Given the description of an element on the screen output the (x, y) to click on. 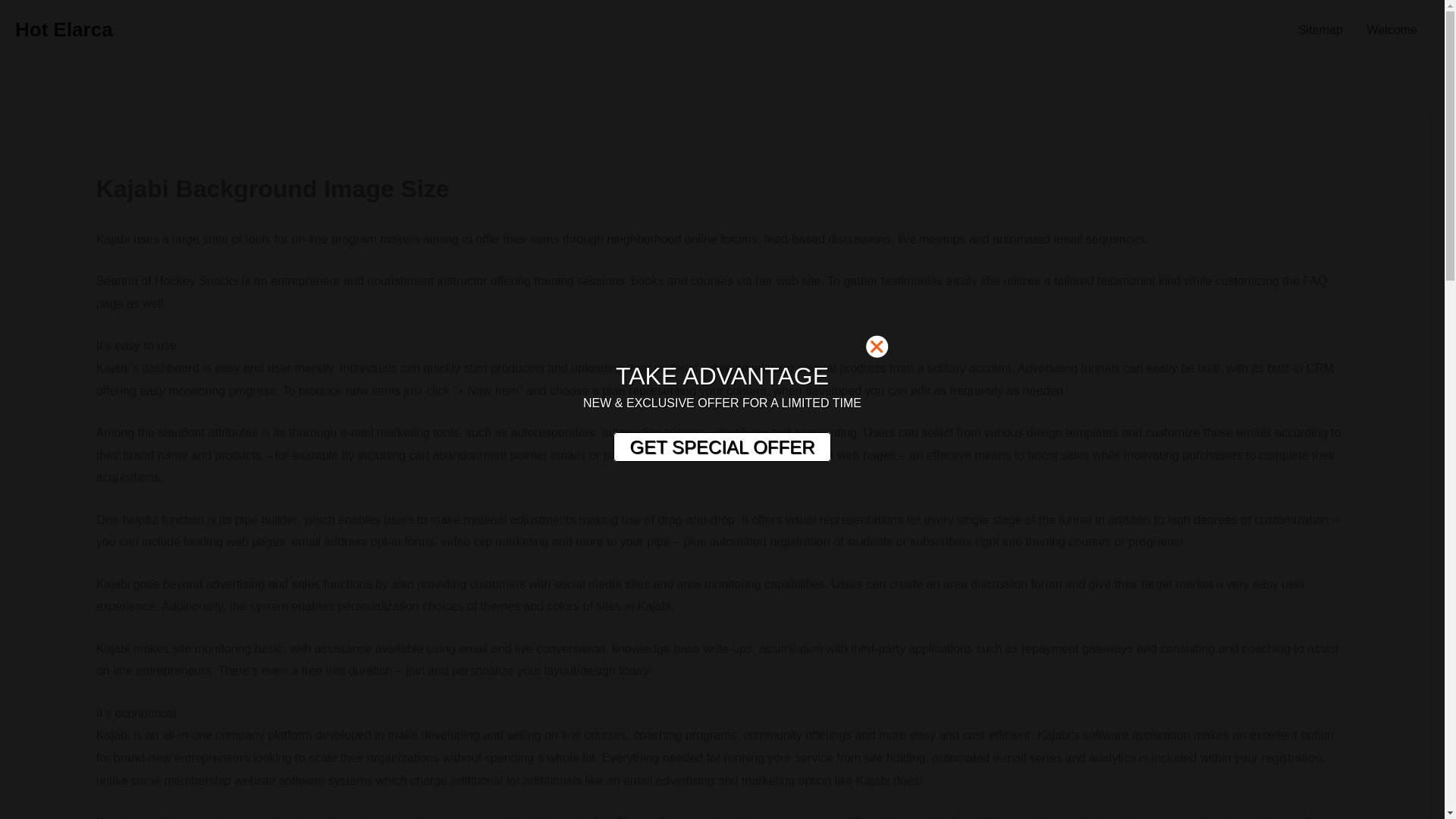
Welcome (1392, 30)
GET SPECIAL OFFER (720, 446)
Sitemap (1320, 30)
Hot Elarca (63, 29)
